Given the description of an element on the screen output the (x, y) to click on. 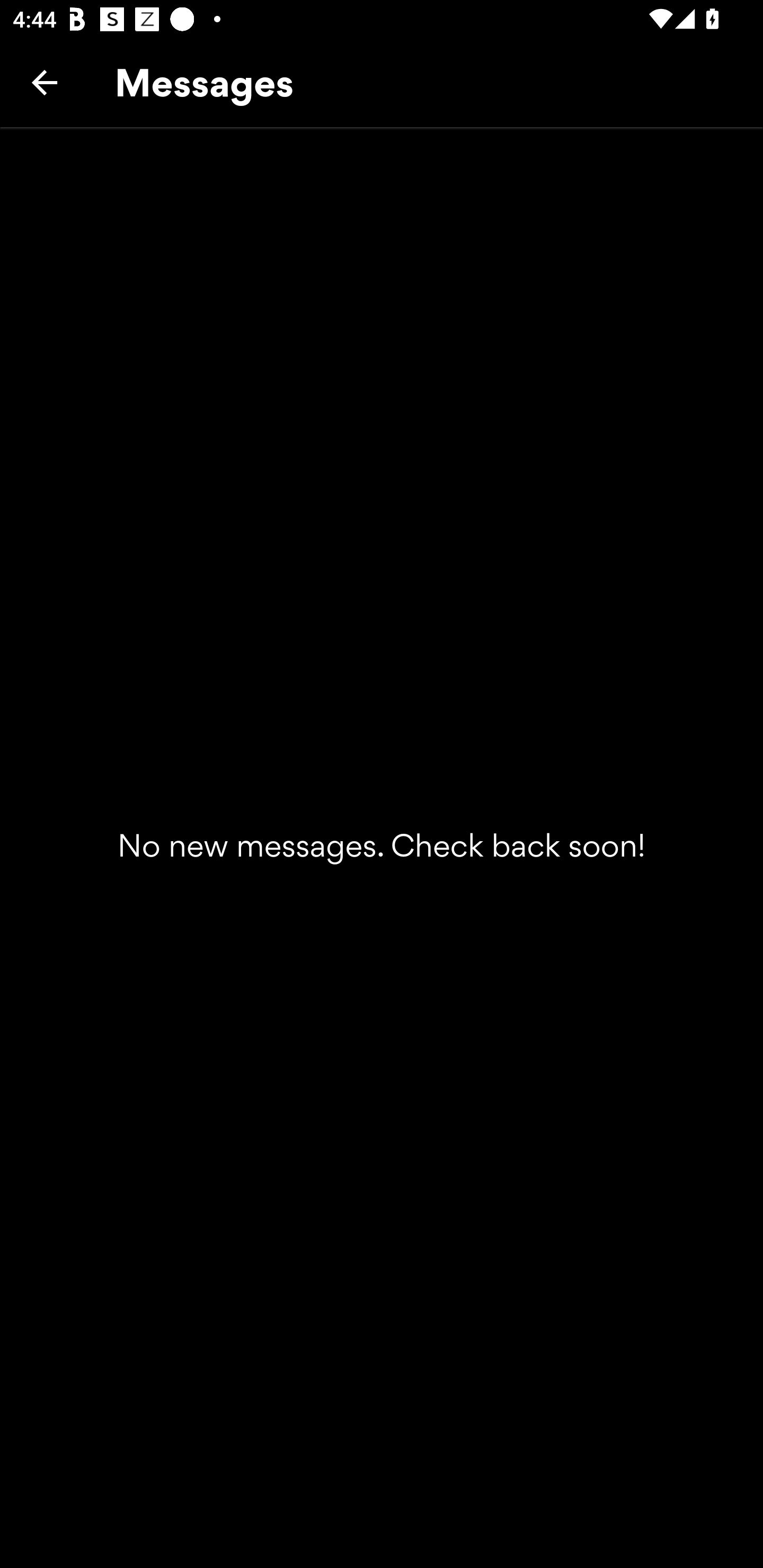
Back (44, 82)
